Given the description of an element on the screen output the (x, y) to click on. 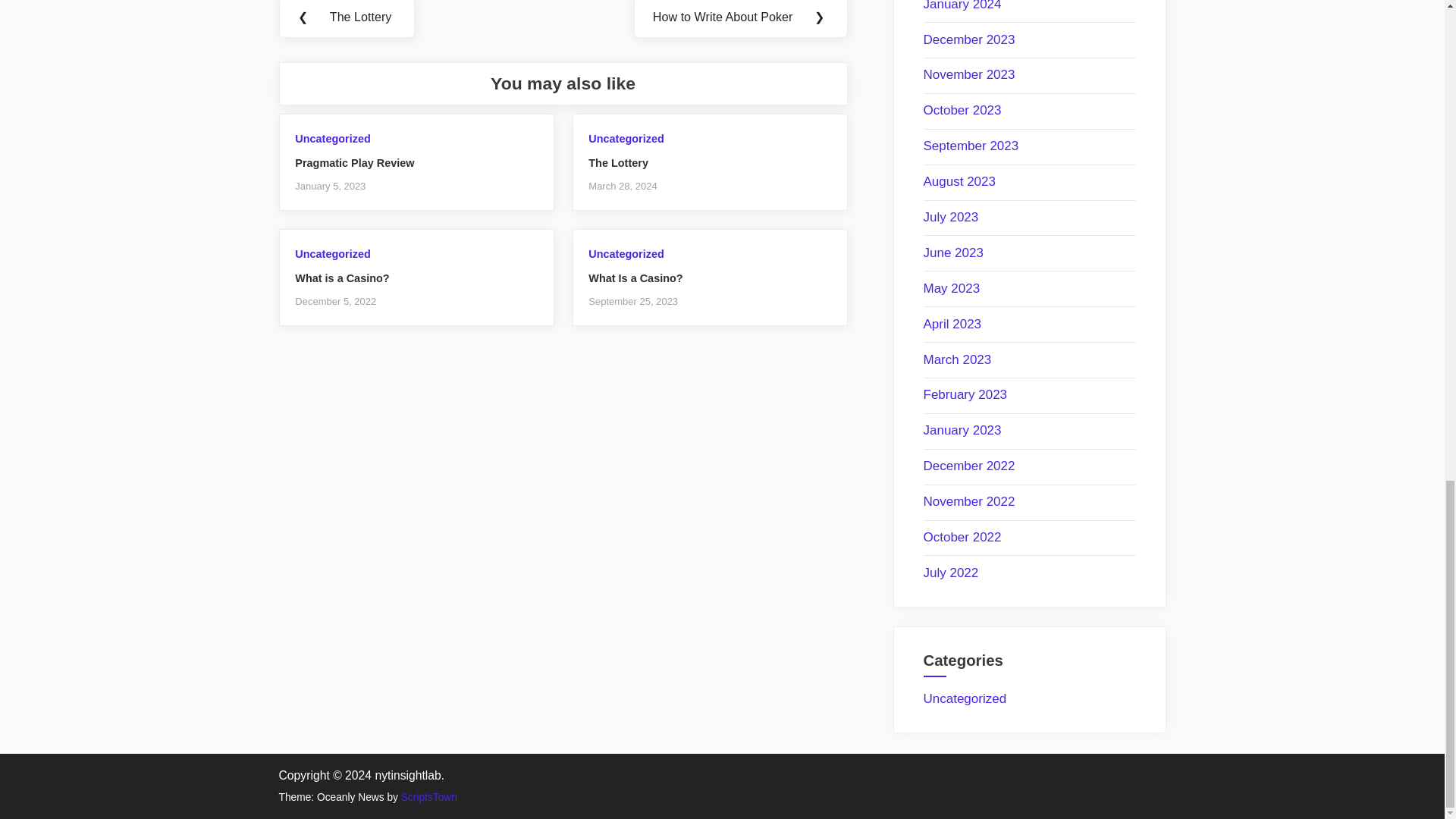
Uncategorized (332, 254)
August 2023 (959, 181)
What is a Casino? (341, 277)
November 2023 (968, 74)
October 2023 (962, 110)
Uncategorized (332, 138)
What Is a Casino? (635, 277)
Pragmatic Play Review (354, 162)
December 2023 (968, 39)
September 2023 (971, 145)
Uncategorized (625, 138)
January 2024 (962, 5)
Uncategorized (625, 254)
The Lottery (617, 162)
